Given the description of an element on the screen output the (x, y) to click on. 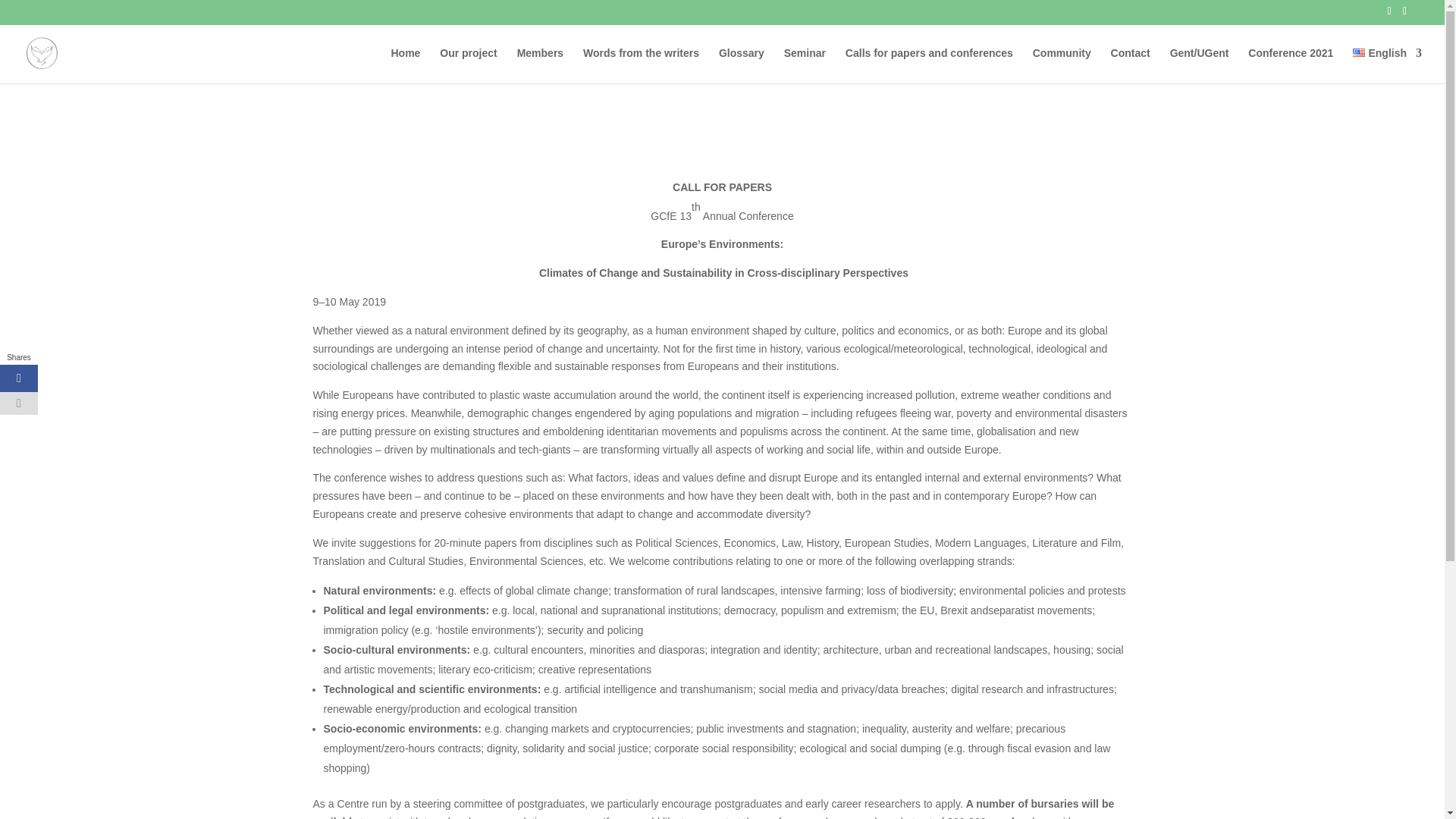
Words from the writers (640, 65)
Members (539, 65)
English (1358, 52)
Community (1061, 65)
Calls for papers and conferences (929, 65)
Glossary (741, 65)
Conference 2021 (1290, 65)
Our project (467, 65)
Contact (1130, 65)
Seminar (804, 65)
